Given the description of an element on the screen output the (x, y) to click on. 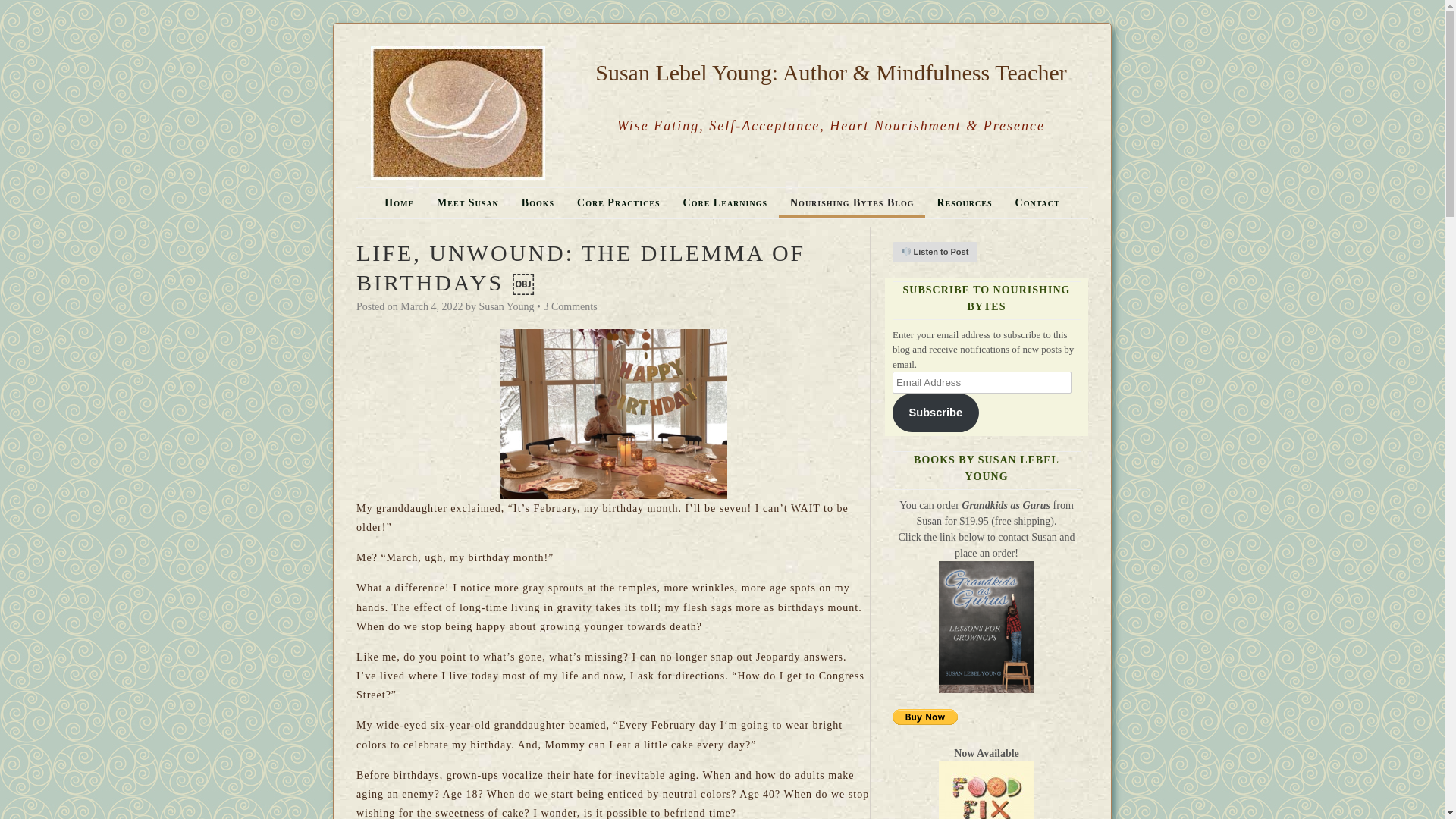
Susan Young (506, 306)
Nourishing Bytes Blog (851, 203)
Books (538, 203)
3 Comments (569, 306)
View all posts by Susan Young (506, 306)
Home (398, 203)
Resources (963, 203)
Contact (1037, 203)
Meet Susan (468, 203)
Core Learnings (724, 203)
Core Practices (618, 203)
